Given the description of an element on the screen output the (x, y) to click on. 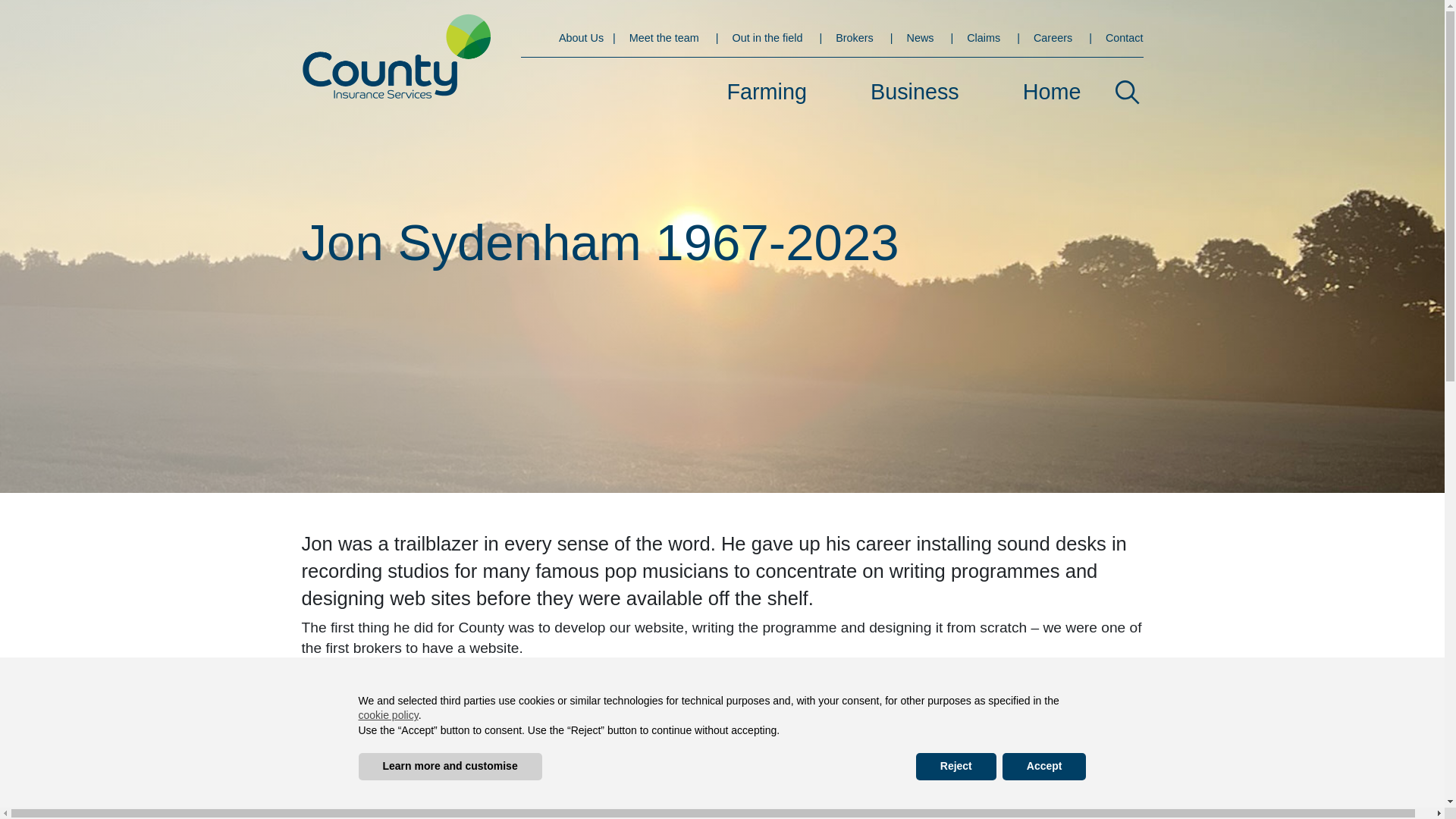
Brokers (852, 37)
Home (1051, 91)
News (918, 37)
News (918, 37)
Claims (981, 37)
Claims (981, 37)
Out in the field (766, 37)
Farming (766, 91)
Business (914, 91)
Brokers (852, 37)
